Given the description of an element on the screen output the (x, y) to click on. 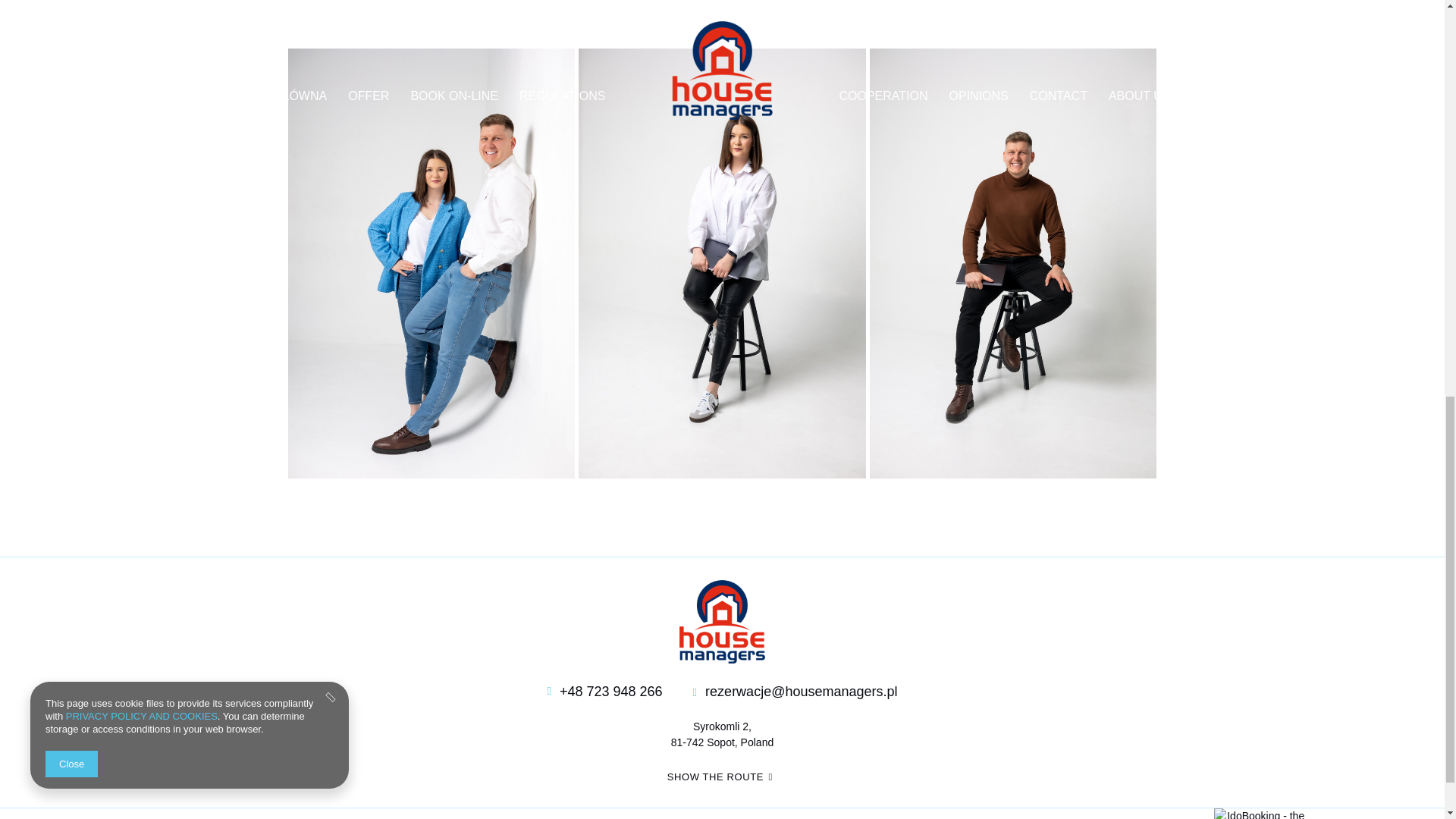
SHOW THE ROUTE (721, 777)
